Given the description of an element on the screen output the (x, y) to click on. 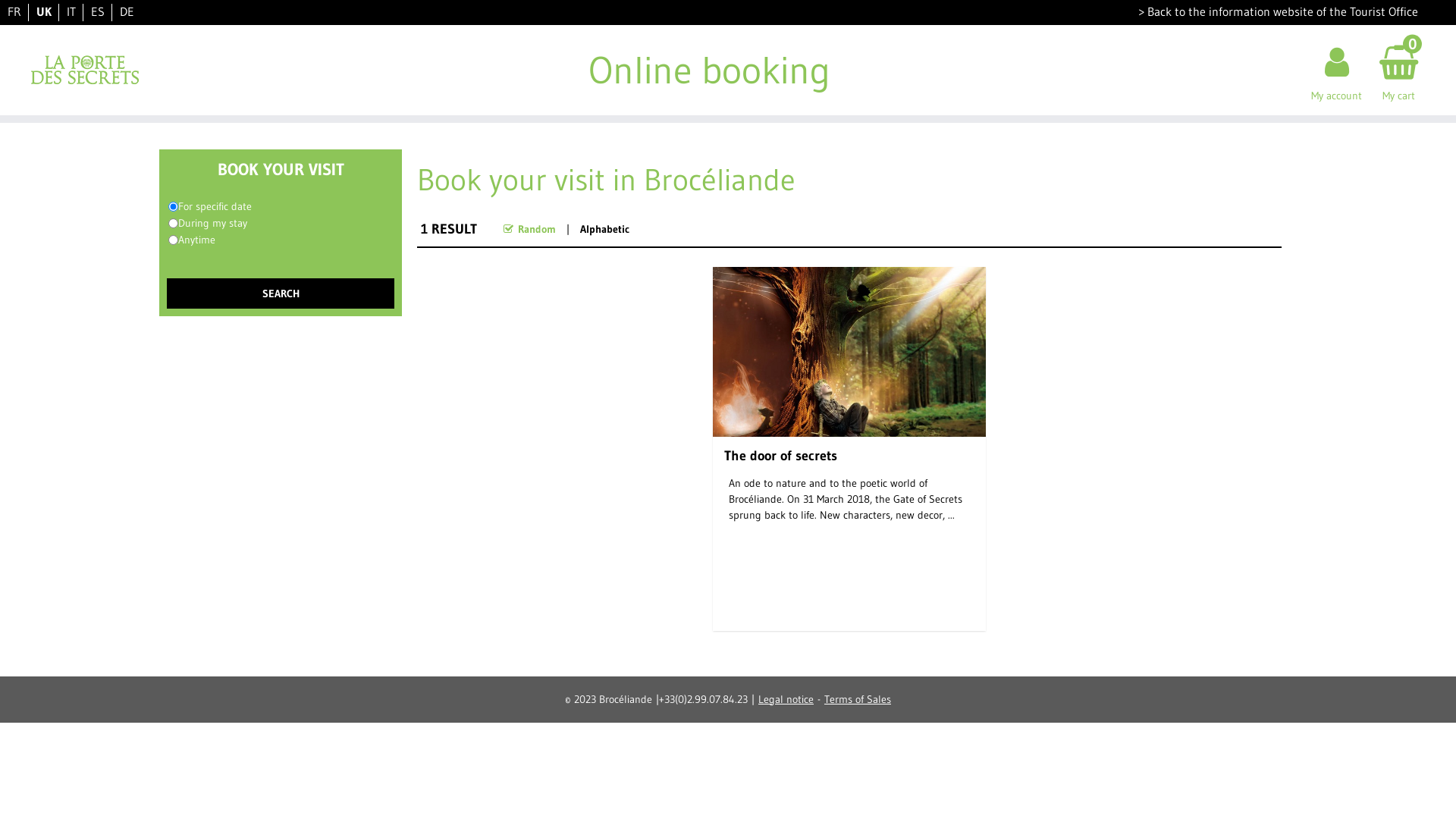
DETAILS Element type: text (848, 611)
My account Element type: text (1336, 69)
Terms of Sales Element type: text (857, 698)
The door of secrets Element type: text (784, 458)
Display Element type: text (22, 9)
+33(0)2.99.07.84.23 Element type: text (702, 698)
IT Element type: text (70, 10)
AUCUNE Element type: text (173, 239)
FR Element type: text (14, 10)
Random Element type: text (536, 228)
PERIODE Element type: text (173, 223)
DE Element type: text (126, 10)
> Back to the information website of the Tourist Office Element type: text (1278, 10)
UK Element type: text (43, 10)
Alphabetic Element type: text (604, 228)
My cart Element type: text (1398, 69)
Search Element type: text (280, 293)
Legal notice Element type: text (785, 698)
ES Element type: text (97, 10)
LE Element type: text (173, 206)
